Given the description of an element on the screen output the (x, y) to click on. 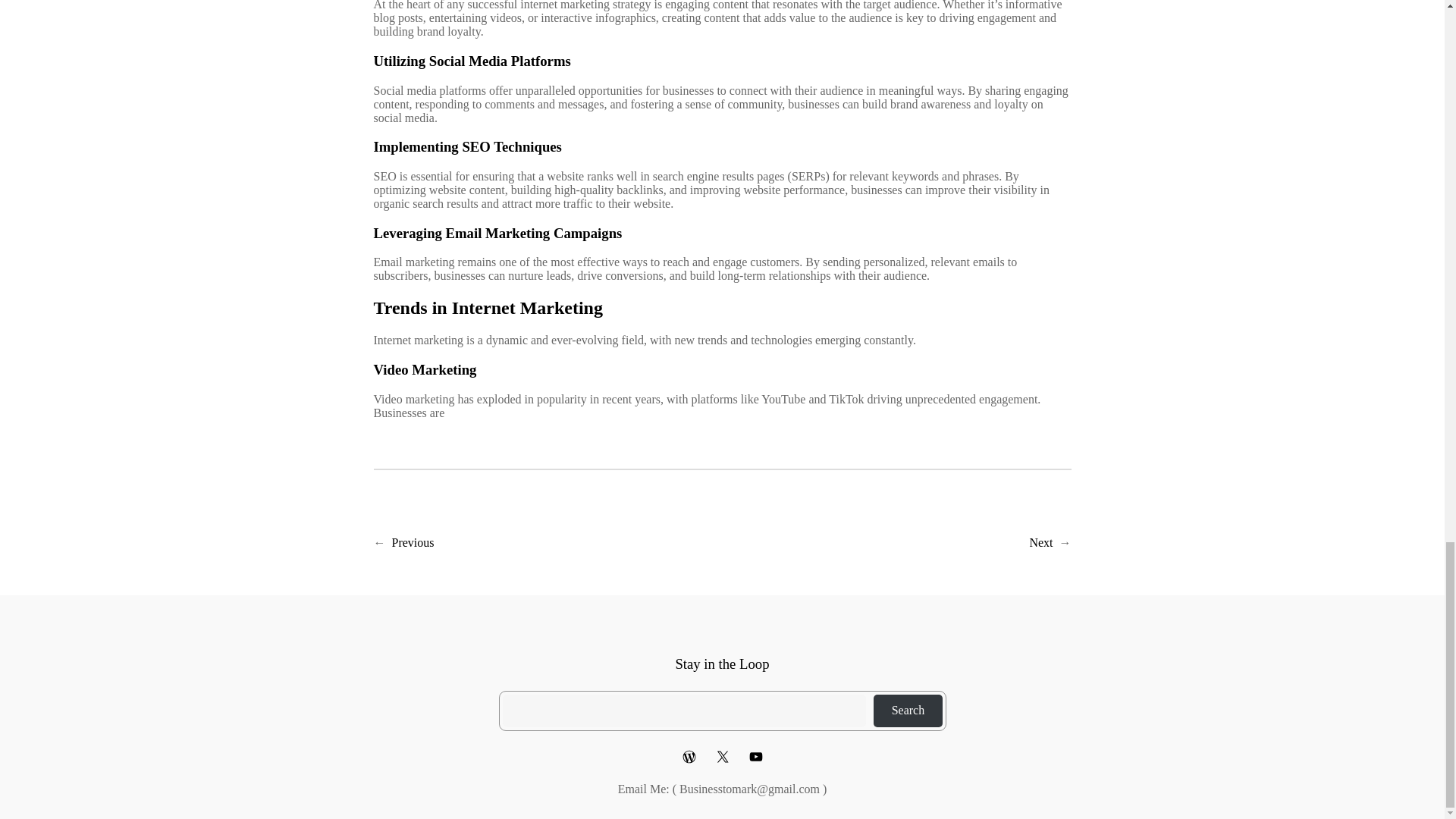
Next (1040, 542)
X (721, 756)
Previous (412, 542)
YouTube (755, 756)
WordPress (688, 756)
Search (907, 710)
